Given the description of an element on the screen output the (x, y) to click on. 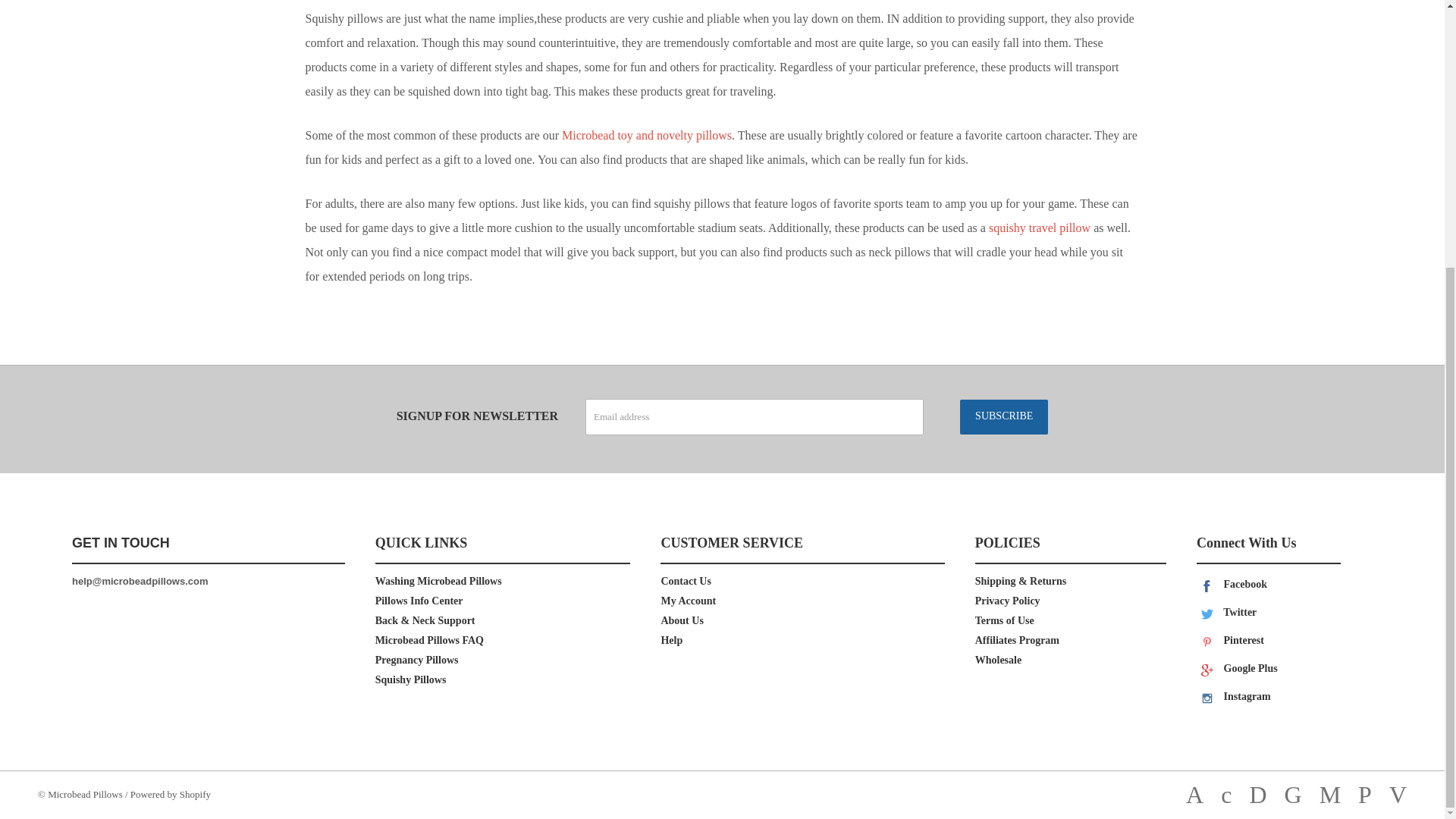
Subscribe (1003, 416)
